Given the description of an element on the screen output the (x, y) to click on. 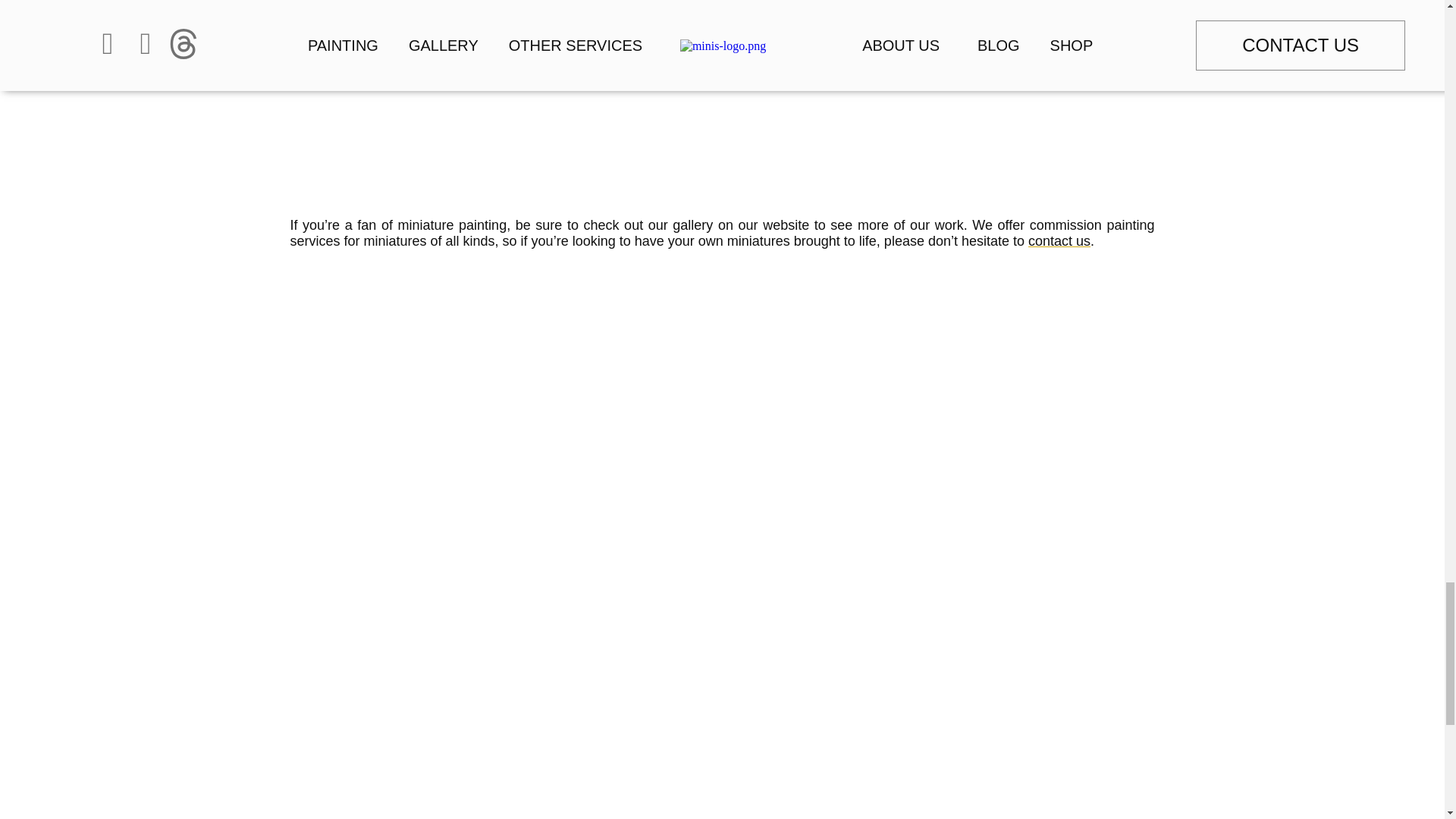
contact us (1058, 240)
